Given the description of an element on the screen output the (x, y) to click on. 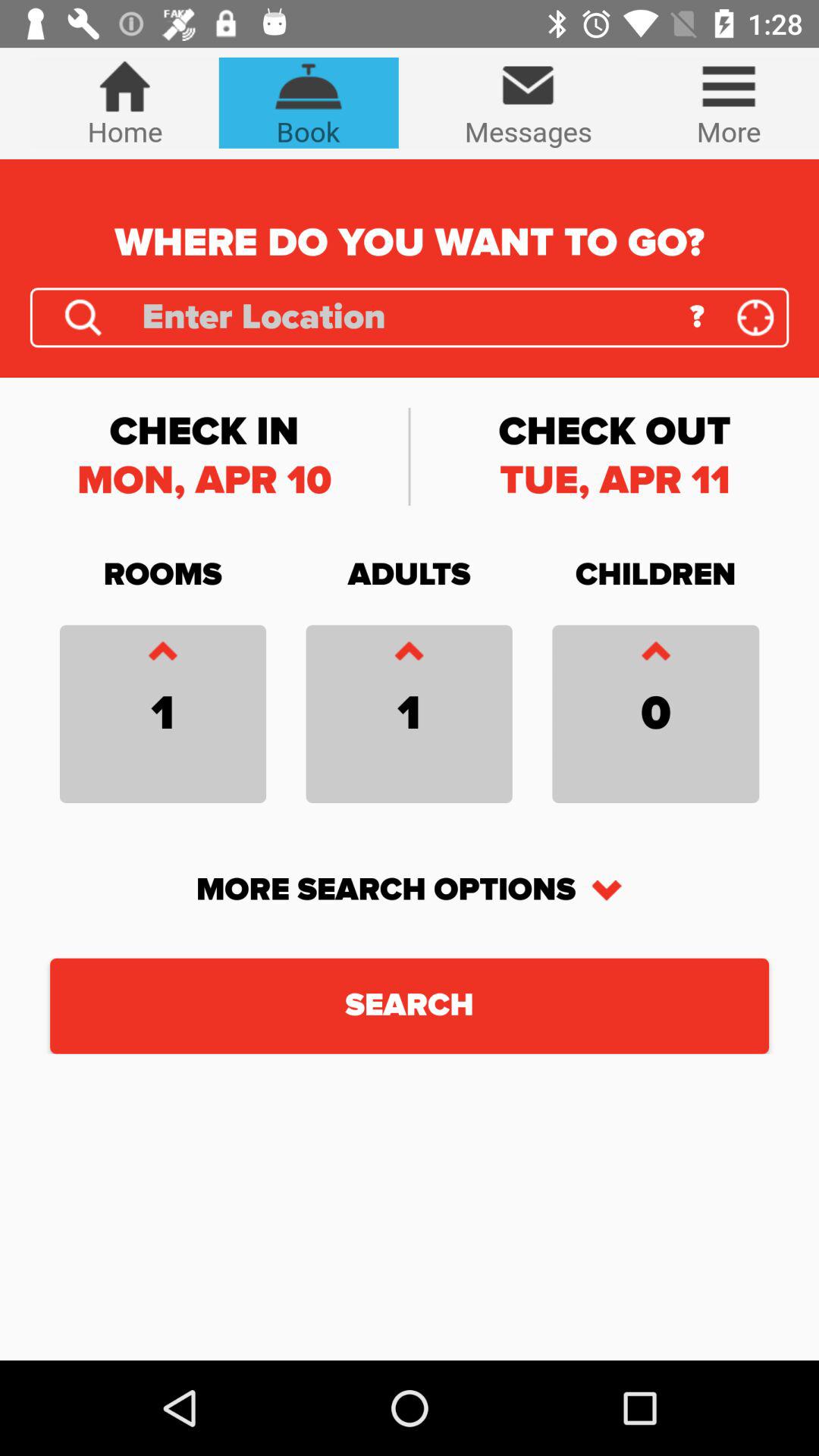
select the  ?  item (696, 317)
